Given the description of an element on the screen output the (x, y) to click on. 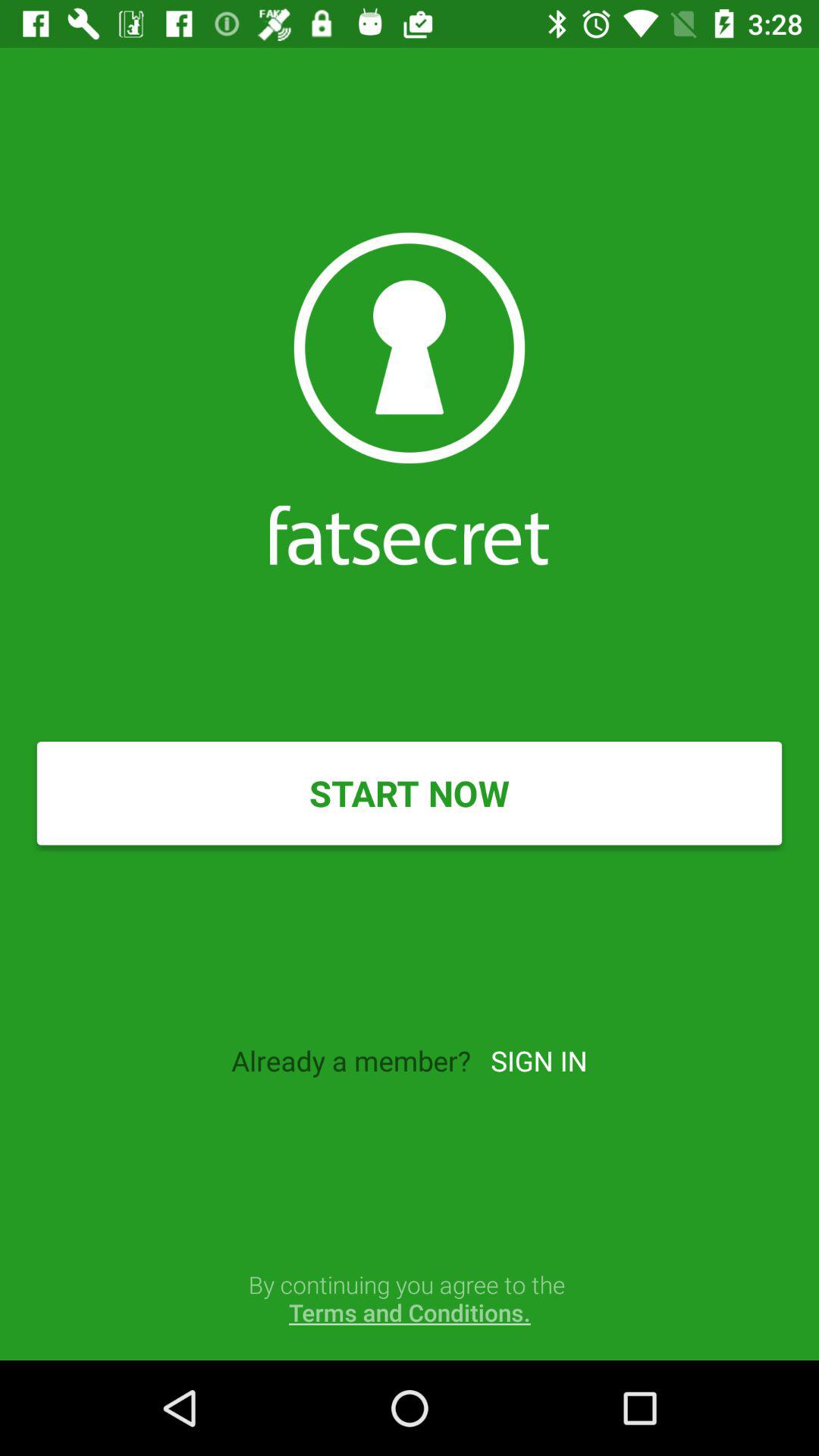
choose the sign in (538, 1060)
